Given the description of an element on the screen output the (x, y) to click on. 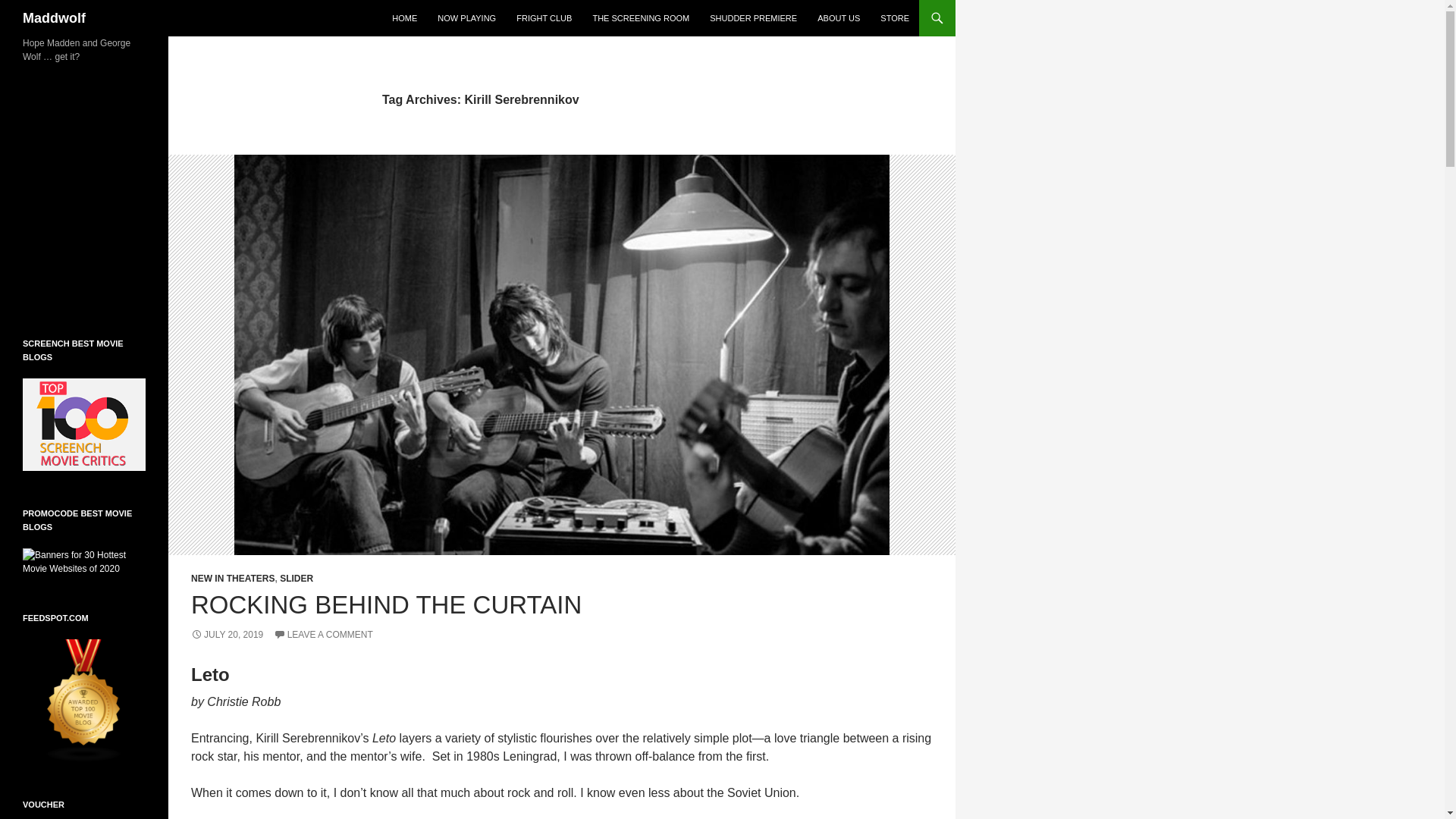
SLIDER (296, 578)
Banners for 30 Hottest Movie Websites of 2020 (84, 561)
NOW PLAYING (466, 18)
STORE (894, 18)
HOME (404, 18)
JULY 20, 2019 (226, 634)
FRIGHT CLUB (543, 18)
Maddwolf (54, 18)
Movie blogs (84, 699)
THE SCREENING ROOM (640, 18)
